Given the description of an element on the screen output the (x, y) to click on. 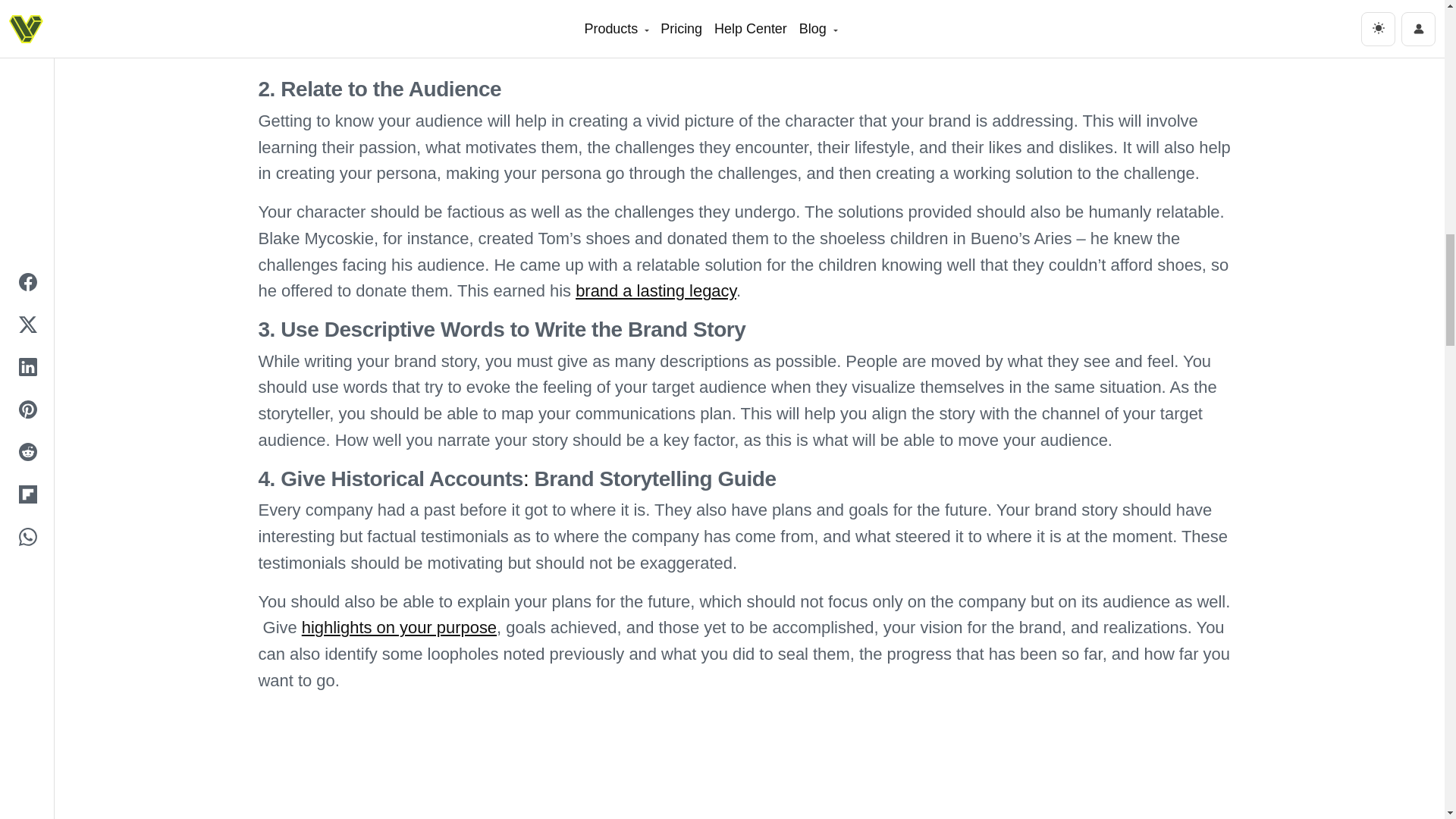
brand a lasting legacy (655, 290)
highlights on your purpose (398, 627)
